Given the description of an element on the screen output the (x, y) to click on. 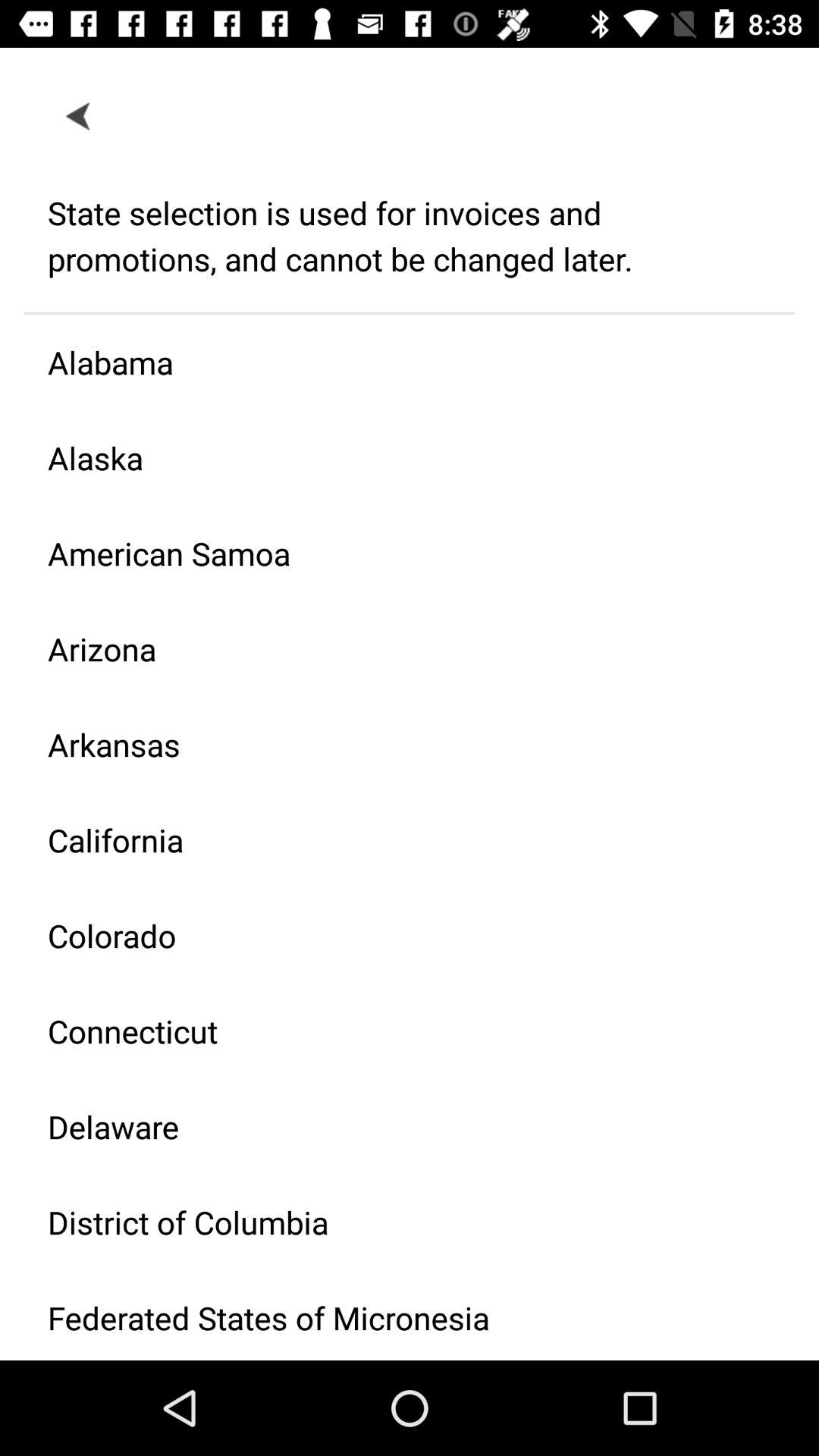
click the arkansas (397, 744)
